Given the description of an element on the screen output the (x, y) to click on. 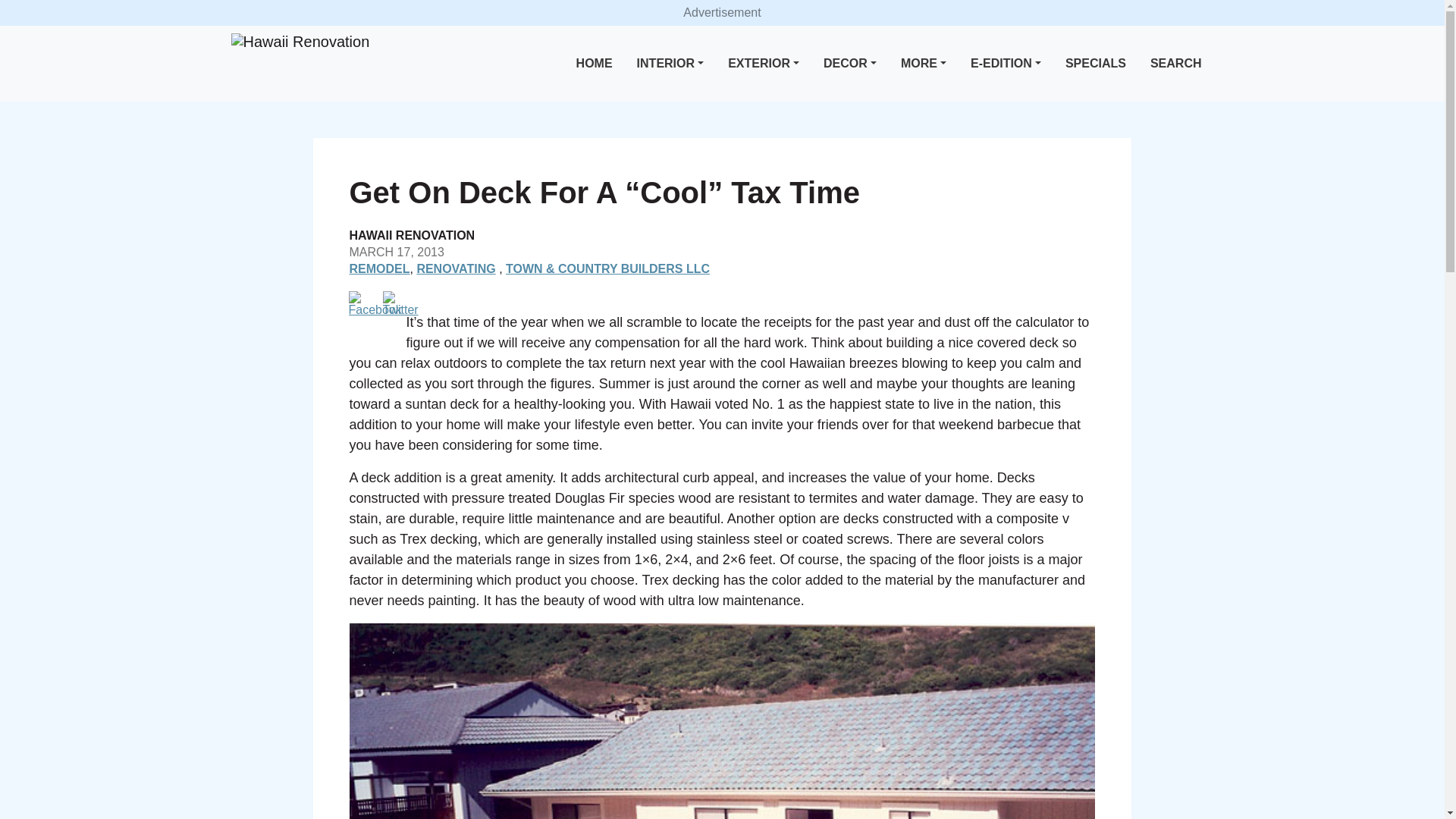
HOME (594, 63)
EXTERIOR (763, 63)
REMODEL (379, 268)
Facebook (375, 303)
RENOVATING (455, 268)
E-EDITION (1004, 63)
MORE (923, 63)
DECOR (849, 63)
Hawaii Renovation (299, 41)
SPECIALS (1095, 63)
